Given the description of an element on the screen output the (x, y) to click on. 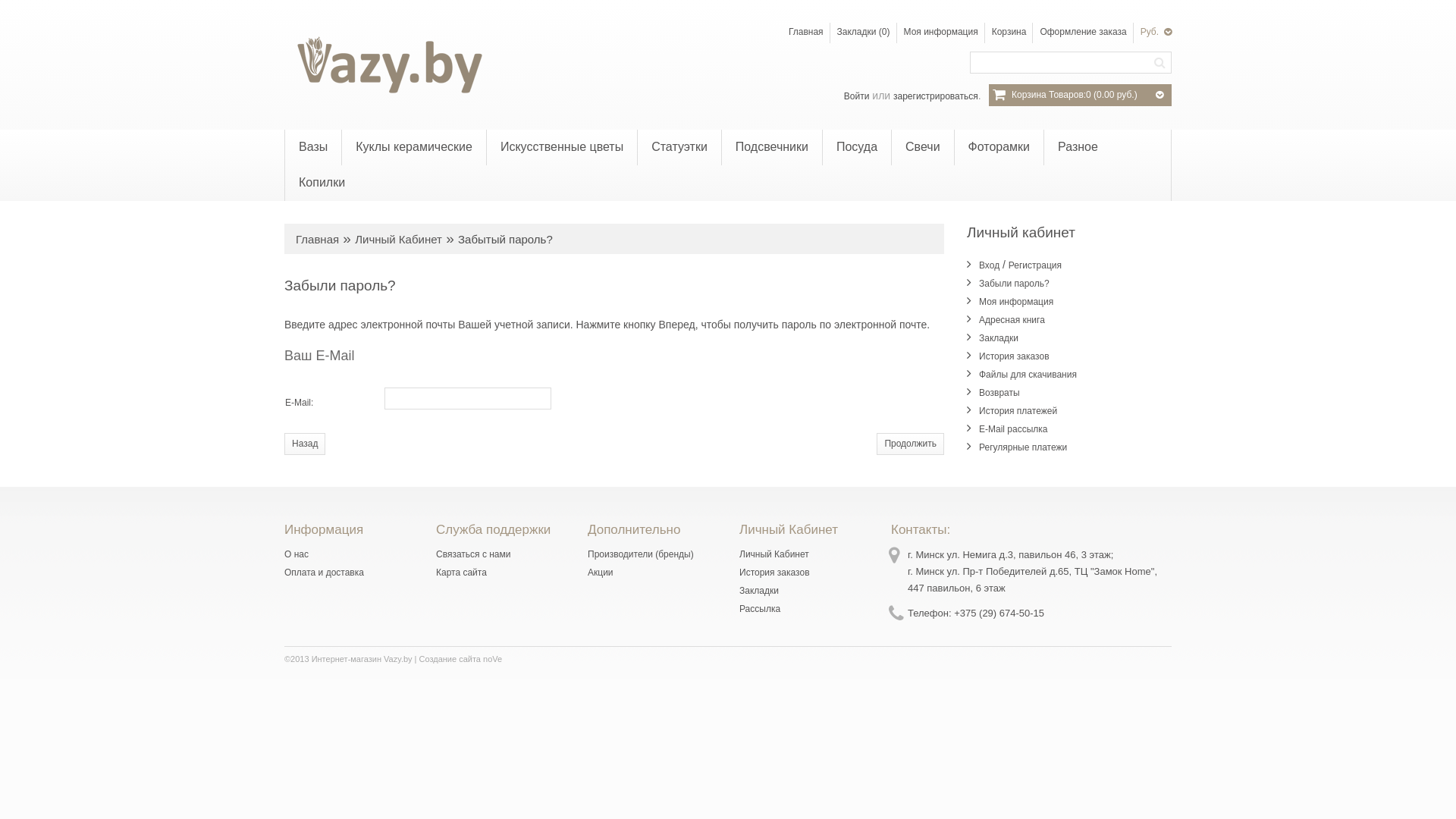
Vazy.by Element type: hover (386, 64)
